Given the description of an element on the screen output the (x, y) to click on. 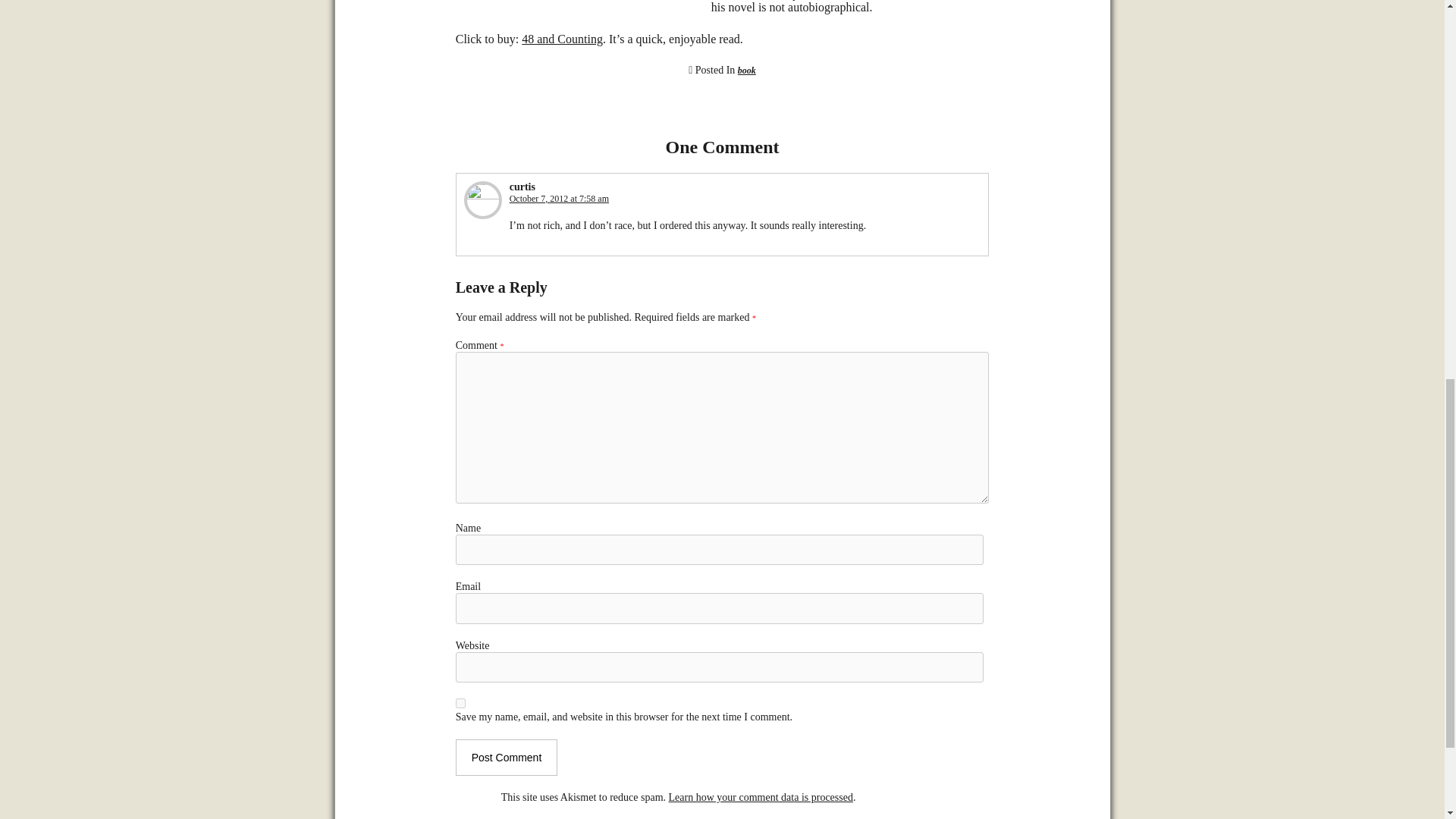
Learn how your comment data is processed (760, 797)
48 and Counting book cover (574, 3)
Post Comment (506, 757)
48 and Counting (561, 38)
yes (460, 703)
Post Comment (506, 757)
book (746, 70)
October 7, 2012 at 7:58 am (558, 198)
